Given the description of an element on the screen output the (x, y) to click on. 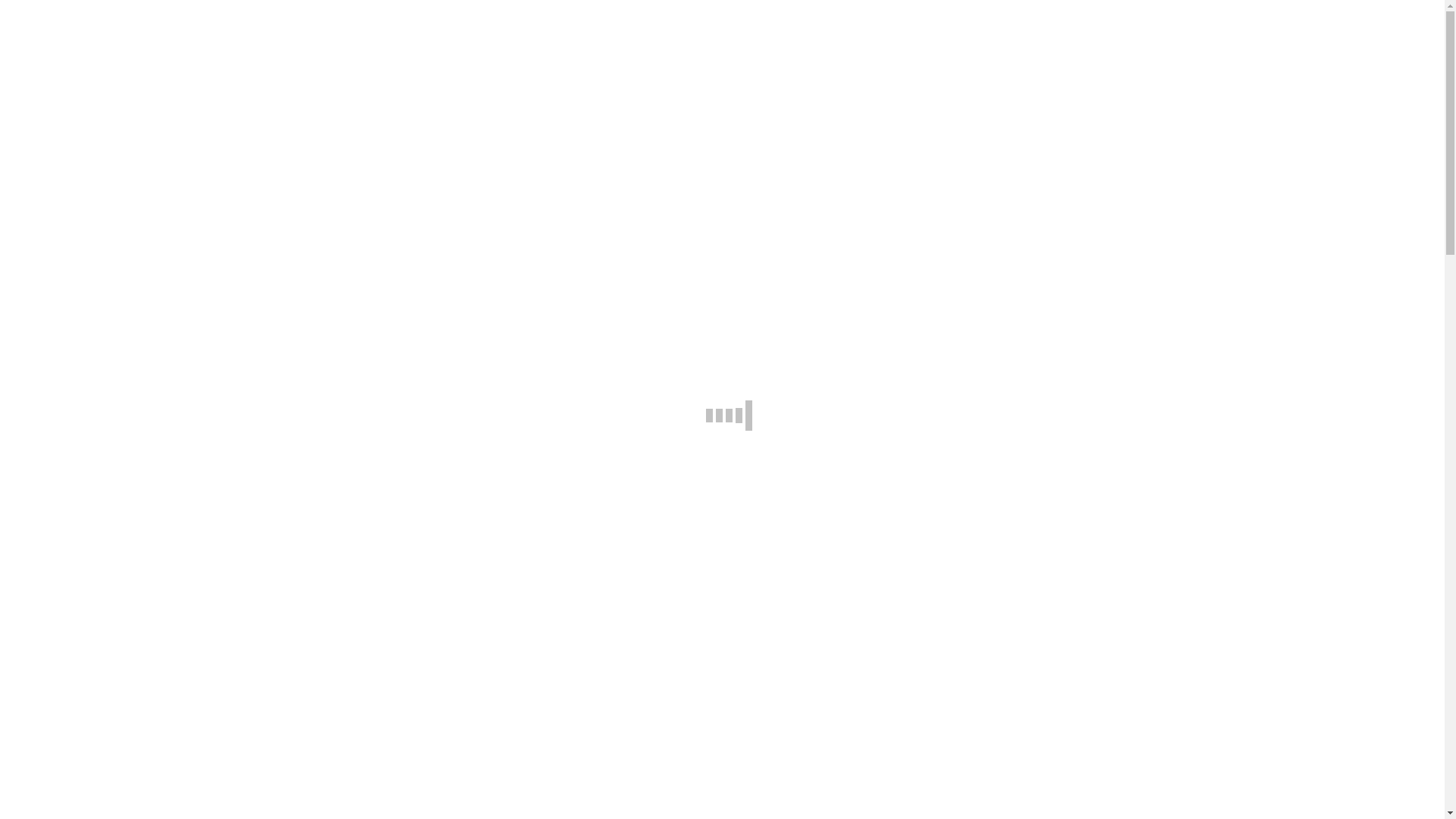
Financial Statements and MD&A Element type: text (147, 653)
Baril Lake West Projects Element type: text (157, 397)
Golden Hope (JV with Sokoman Minerals) Gold-Lithium Element type: text (236, 451)
Management Element type: text (98, 571)
Investors Element type: text (58, 206)
Properties Element type: text (91, 301)
TSXV: BEX Element type: text (36, 12)
Management Element type: text (98, 178)
Great Burnt Property Element type: text (148, 315)
Company Overview Element type: text (115, 558)
Abernethy Gold Element type: text (136, 342)
Bark Lake Project Element type: text (141, 776)
Officers and Directors Element type: text (120, 585)
Far Lake Copper-Gold Element type: text (152, 721)
Media Element type: text (81, 626)
Skip to content Element type: text (5, 5)
News Element type: text (49, 274)
Saganaga Gold (now Starr Property) Element type: text (185, 424)
Financial Statements and MD&A Element type: text (147, 260)
Other Interests Element type: text (102, 762)
Kepenkeck (JV with Sokoman Minerals) Gold Element type: text (210, 479)
Other Interests Element type: text (102, 370)
Search form Element type: hover (73, 27)
Go! Element type: text (157, 27)
Abernethy Gold Element type: text (136, 735)
Panama Gold Element type: text (130, 803)
Far Lake Copper-Gold Element type: text (152, 329)
Corporate Element type: text (60, 544)
Baril Lake West Projects Element type: text (157, 790)
View presentation Element type: text (50, 518)
Projects Element type: text (55, 288)
Investors Element type: text (58, 599)
Officers and Directors Element type: text (120, 192)
Corporate Element type: text (60, 151)
Stock Information Element type: text (110, 639)
Hele Copper-Nickel-PGE Element type: text (159, 356)
Company Presentation & Factsheet Element type: text (152, 219)
Hele Copper-Nickel-PGE Element type: text (159, 749)
Company Presentation & Factsheet Element type: text (152, 612)
Grey River (JV with Sokoman Minerals) Gold Element type: text (209, 465)
Properties Element type: text (91, 694)
Projects Element type: text (55, 680)
Panama Gold Element type: text (130, 410)
Great Burnt Property Element type: text (148, 708)
Company Overview Element type: text (115, 165)
Bark Lake Project Element type: text (141, 383)
Media Element type: text (81, 233)
Stock Information Element type: text (110, 247)
Joint Ventures Element type: text (100, 438)
News Element type: text (49, 667)
